Given the description of an element on the screen output the (x, y) to click on. 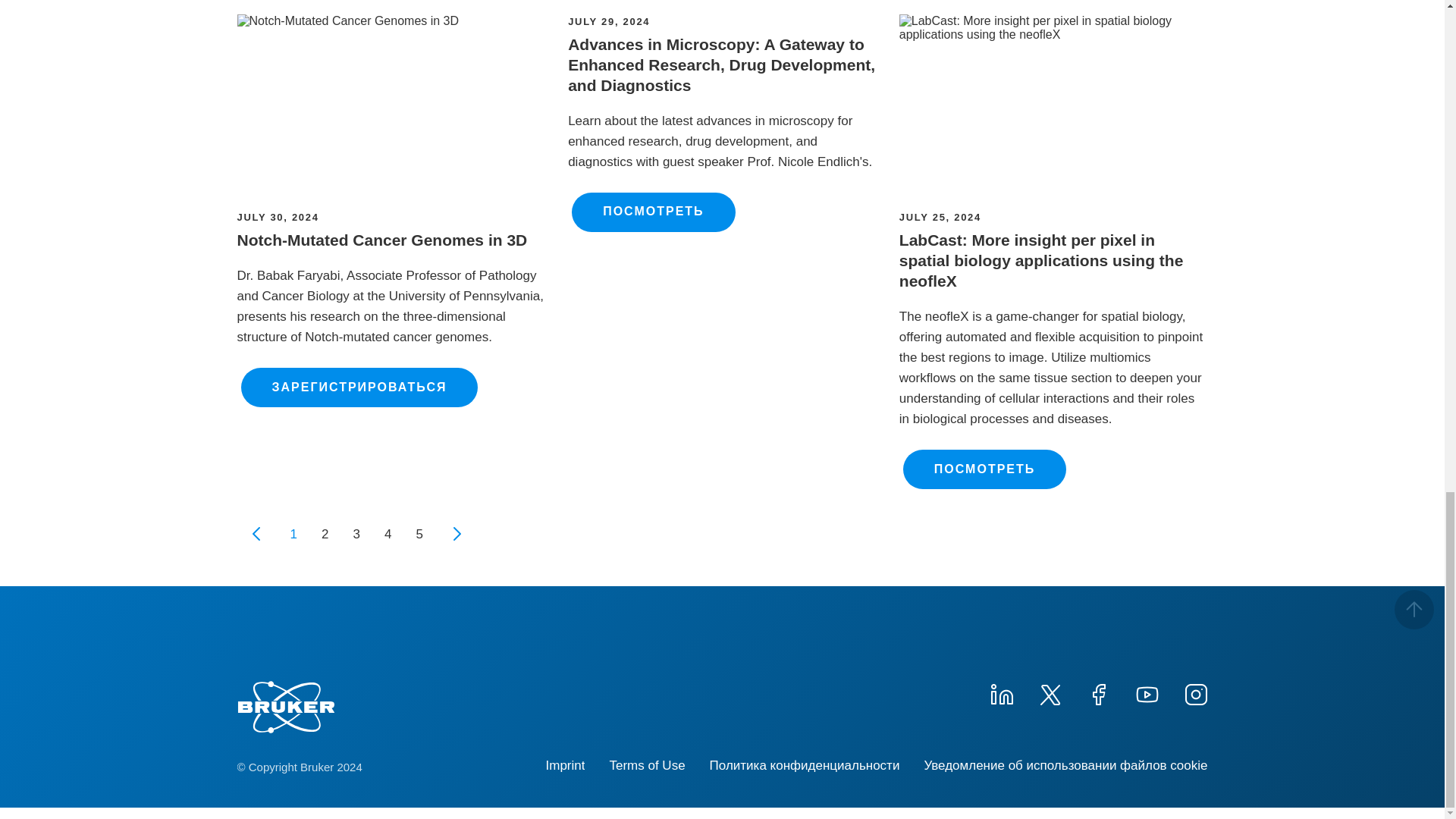
instagram (1194, 692)
linkedin (1000, 692)
facebook (1097, 692)
youtube (1146, 692)
twitter (1048, 692)
